Given the description of an element on the screen output the (x, y) to click on. 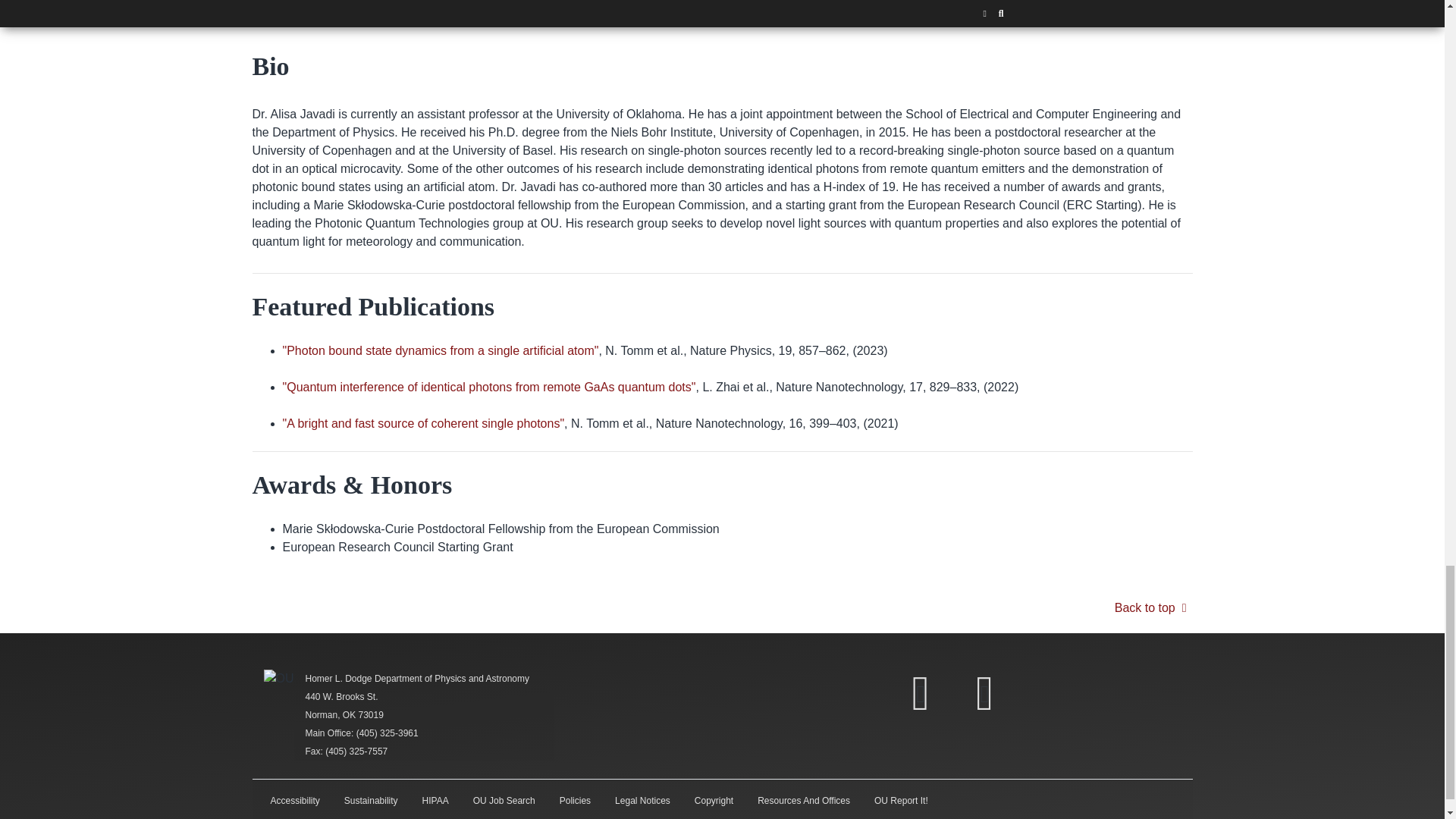
Sustainability (370, 800)
OU Physics and Astronomy Facebook link (919, 692)
Policies (574, 800)
OU Job Search (504, 800)
"Photon bound state dynamics from a single artificial atom" (440, 350)
OU Report It! (900, 800)
Legal Notices (642, 800)
Accessibility (294, 800)
Resources And Offices (803, 800)
